Given the description of an element on the screen output the (x, y) to click on. 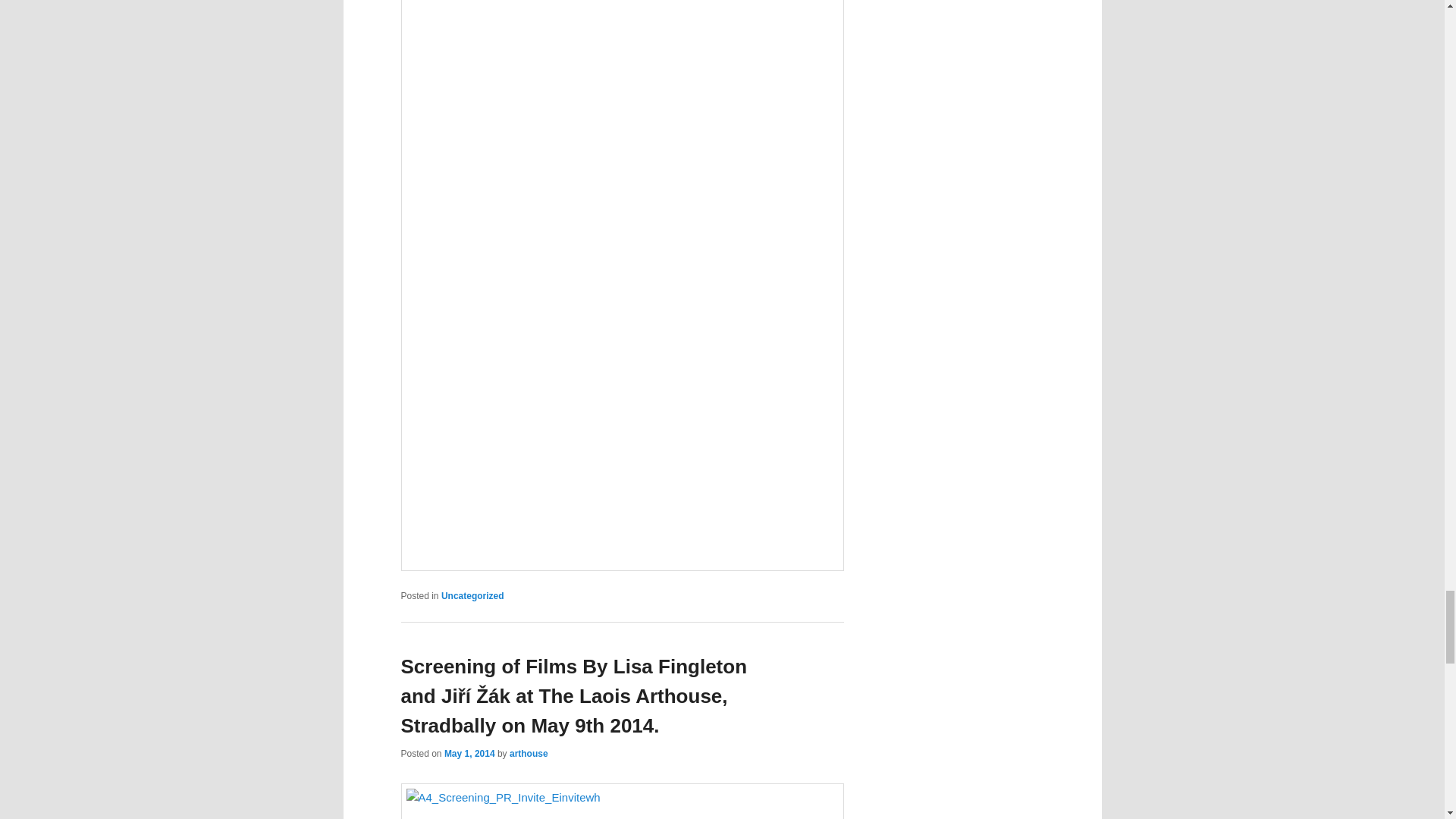
Uncategorized (472, 595)
May 1, 2014 (469, 753)
arthouse (528, 753)
